Given the description of an element on the screen output the (x, y) to click on. 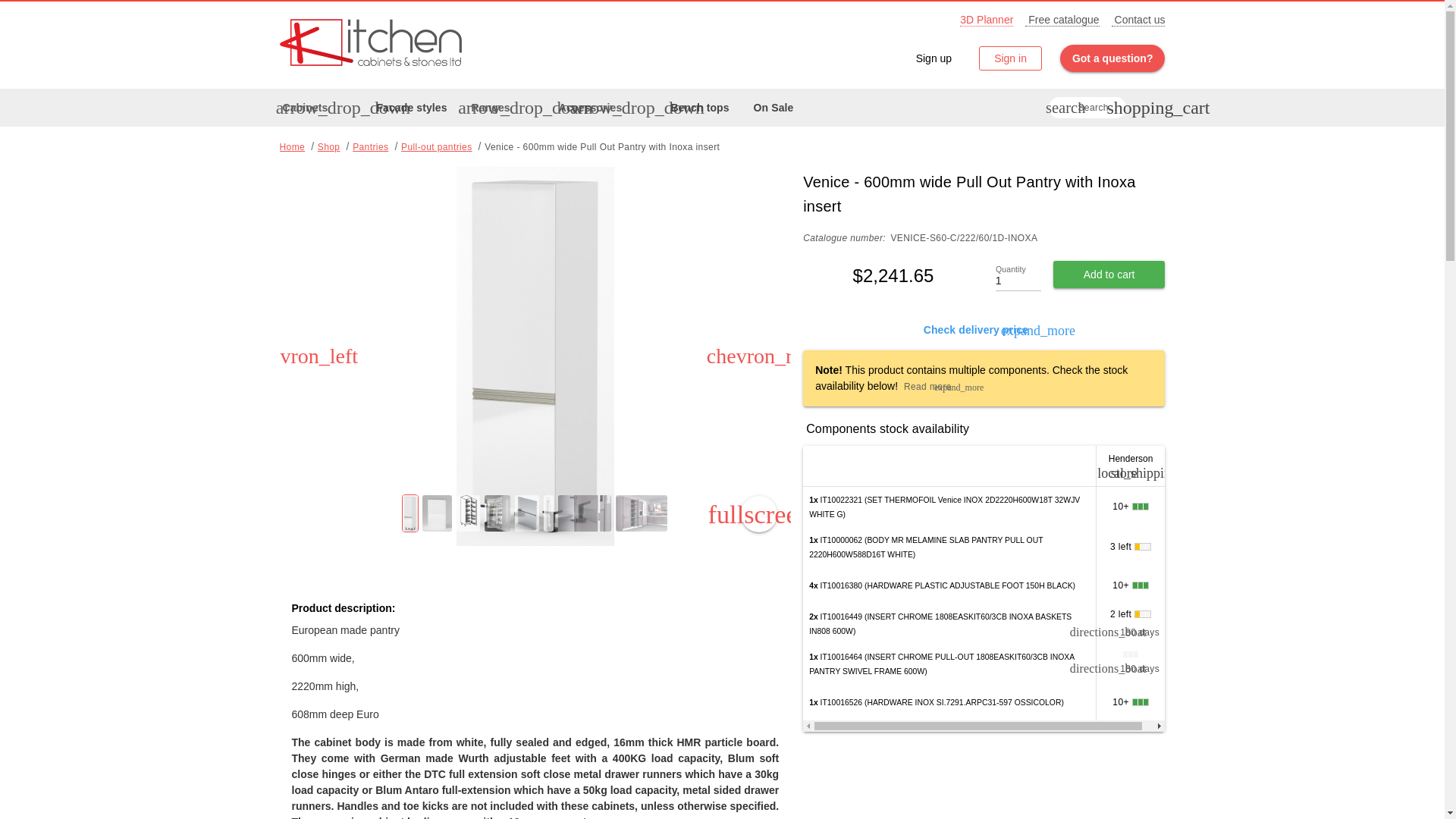
Select your own kitchen style (1086, 107)
Shop (411, 107)
3D Planner (328, 146)
Facade styles (986, 19)
Pull-out pantries (411, 107)
fullscreen (436, 146)
Got a question? (759, 514)
Register as a new user in the system (1112, 58)
Buy our cheapest flatpack kitchens at a great bargain (933, 57)
Free catalogue (773, 107)
Sign in (1062, 19)
On Sale (1010, 57)
Pantries (773, 107)
